Given the description of an element on the screen output the (x, y) to click on. 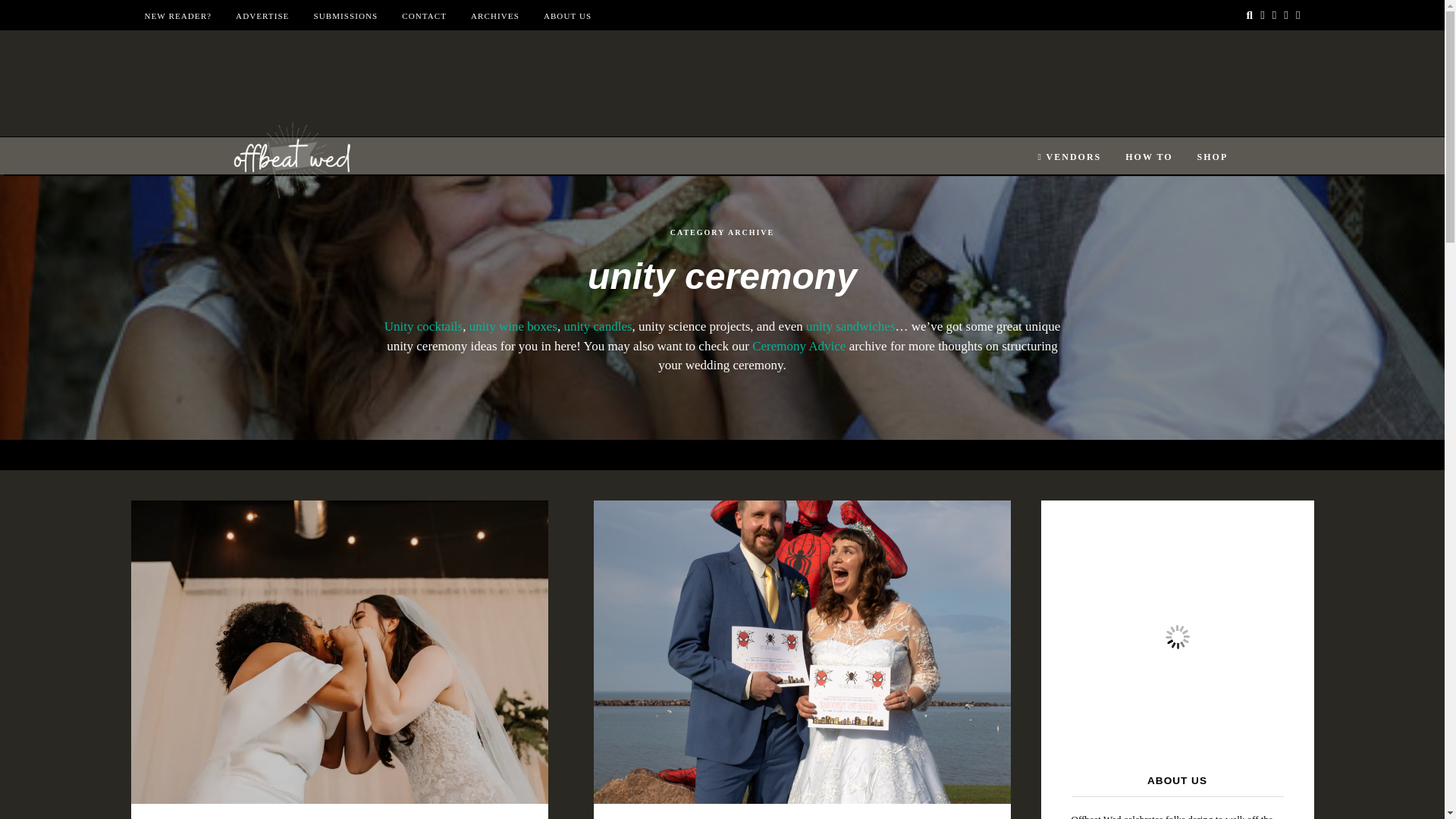
unity sandwiches (850, 326)
CONTACT (423, 15)
SUBMISSIONS (345, 15)
unity wine boxes (512, 326)
HOW TO (1148, 157)
Unity cocktails (423, 326)
Ceremony Advice (798, 345)
ABOUT US (567, 15)
ARCHIVES (494, 15)
unity candles (597, 326)
